Given the description of an element on the screen output the (x, y) to click on. 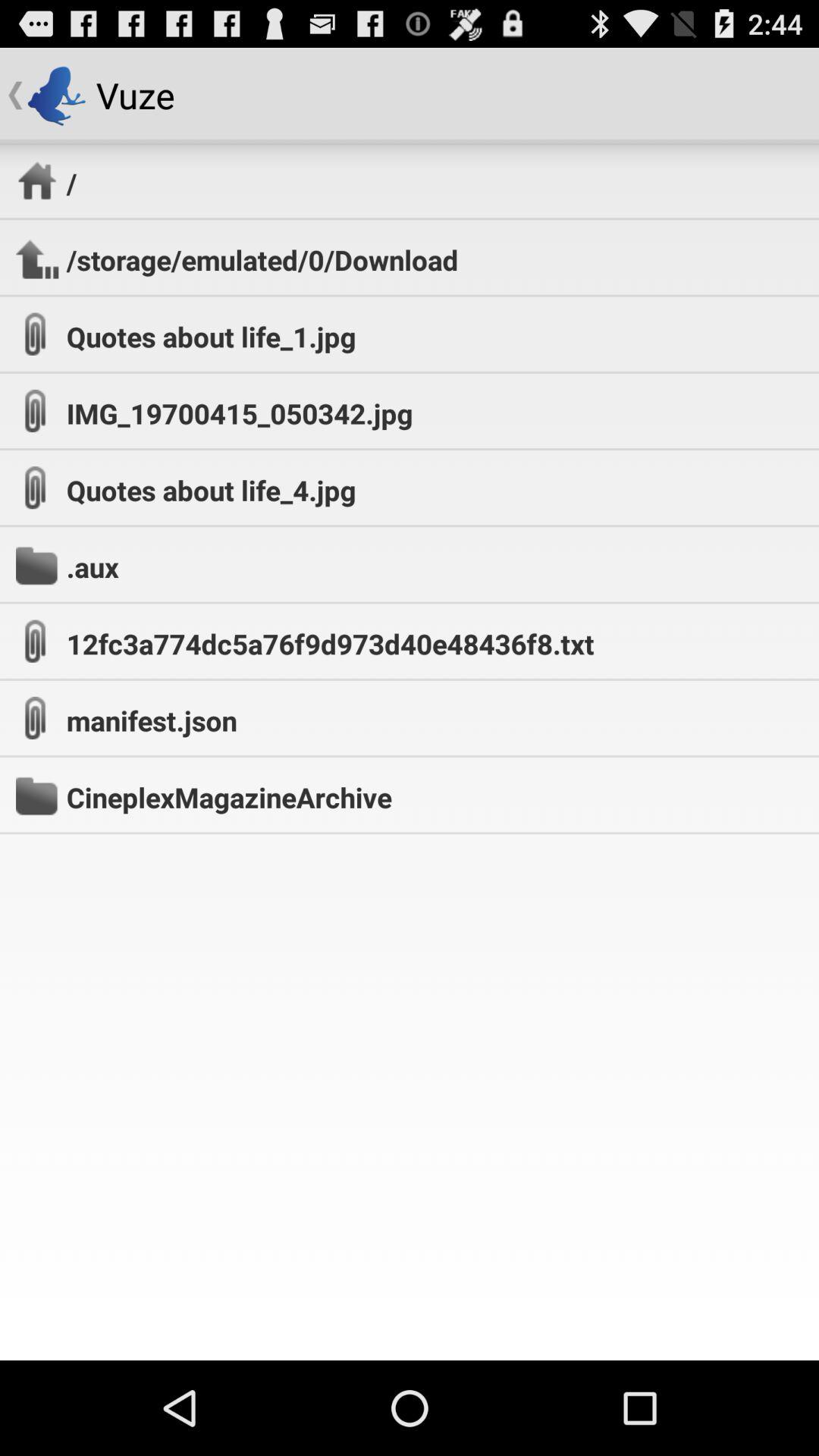
tap the item at the center (330, 643)
